Given the description of an element on the screen output the (x, y) to click on. 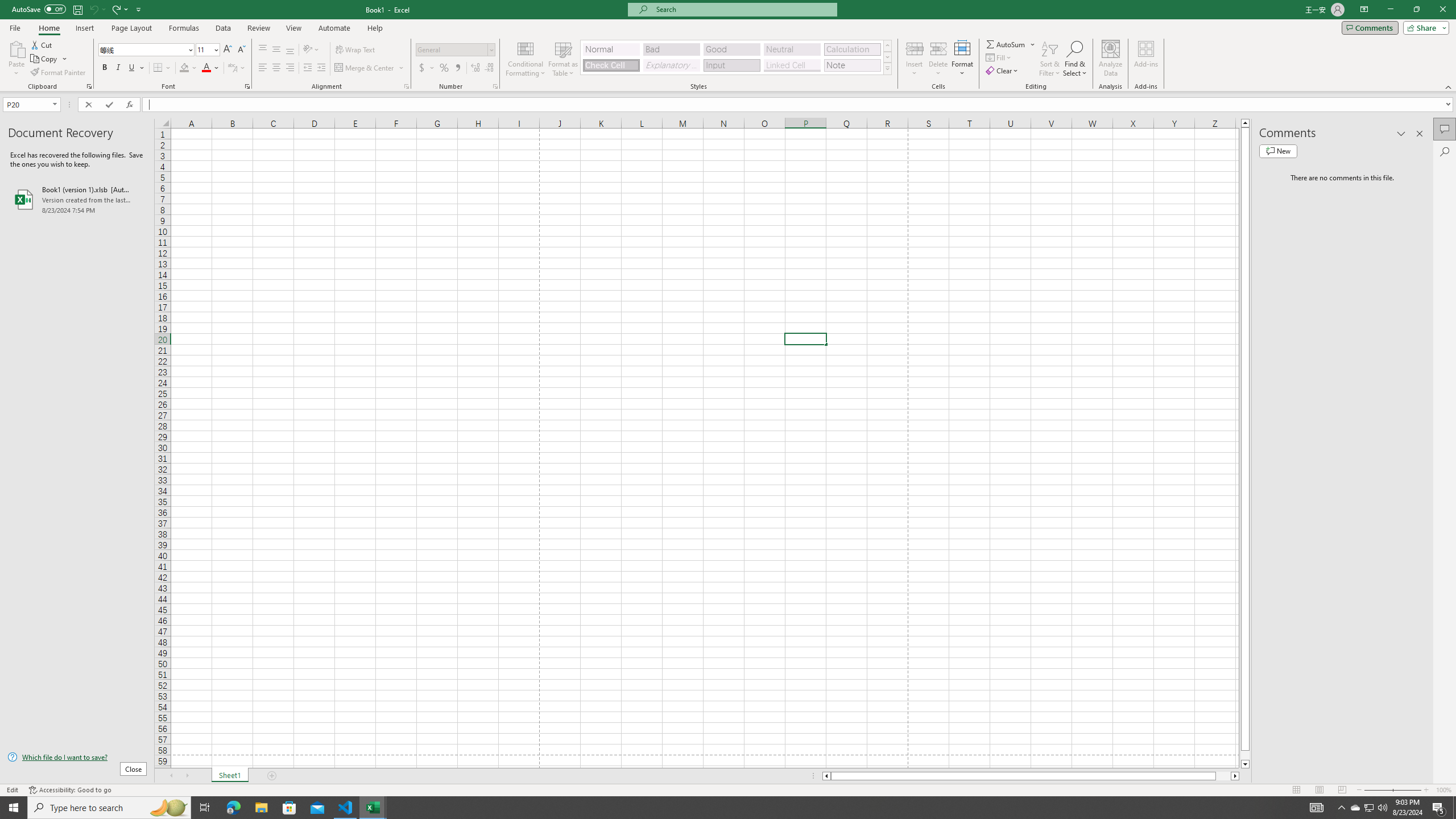
View (293, 28)
Middle Align (276, 49)
Fill (999, 56)
Row up (887, 45)
Increase Font Size (227, 49)
Analyze Data (1110, 58)
Accounting Number Format (422, 67)
Decrease Font Size (240, 49)
Task Pane Options (1400, 133)
Help (374, 28)
Show Phonetic Field (231, 67)
Font (142, 49)
Font Size (204, 49)
